Given the description of an element on the screen output the (x, y) to click on. 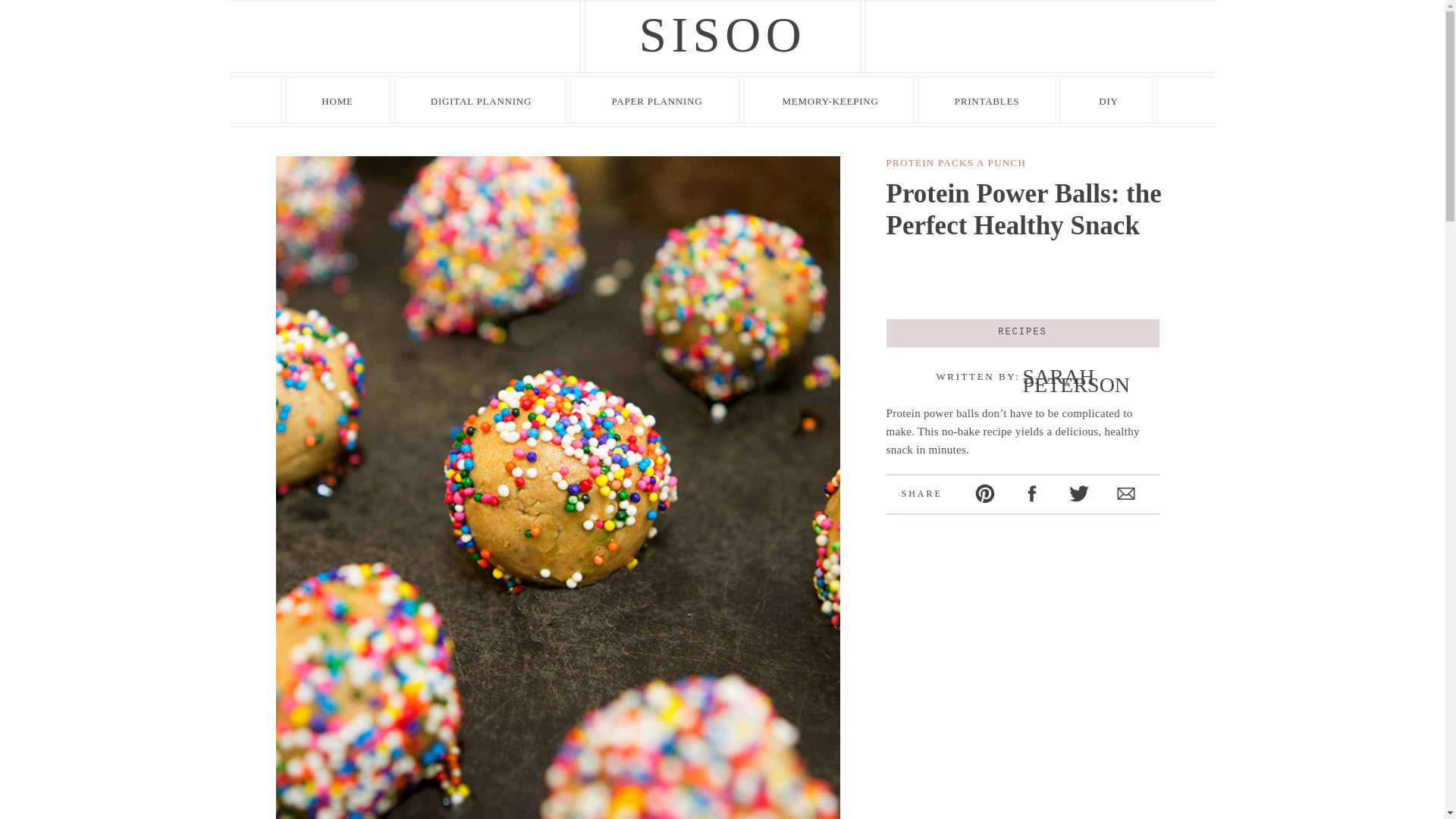
HOME (337, 99)
RECIPES (1021, 331)
PAPER PLANNING (656, 99)
SISOO (721, 36)
DIGITAL PLANNING (480, 99)
PRINTABLES (986, 99)
PROTEIN PACKS A PUNCH (955, 162)
DIY (1109, 99)
MEMORY-KEEPING (830, 99)
